Given the description of an element on the screen output the (x, y) to click on. 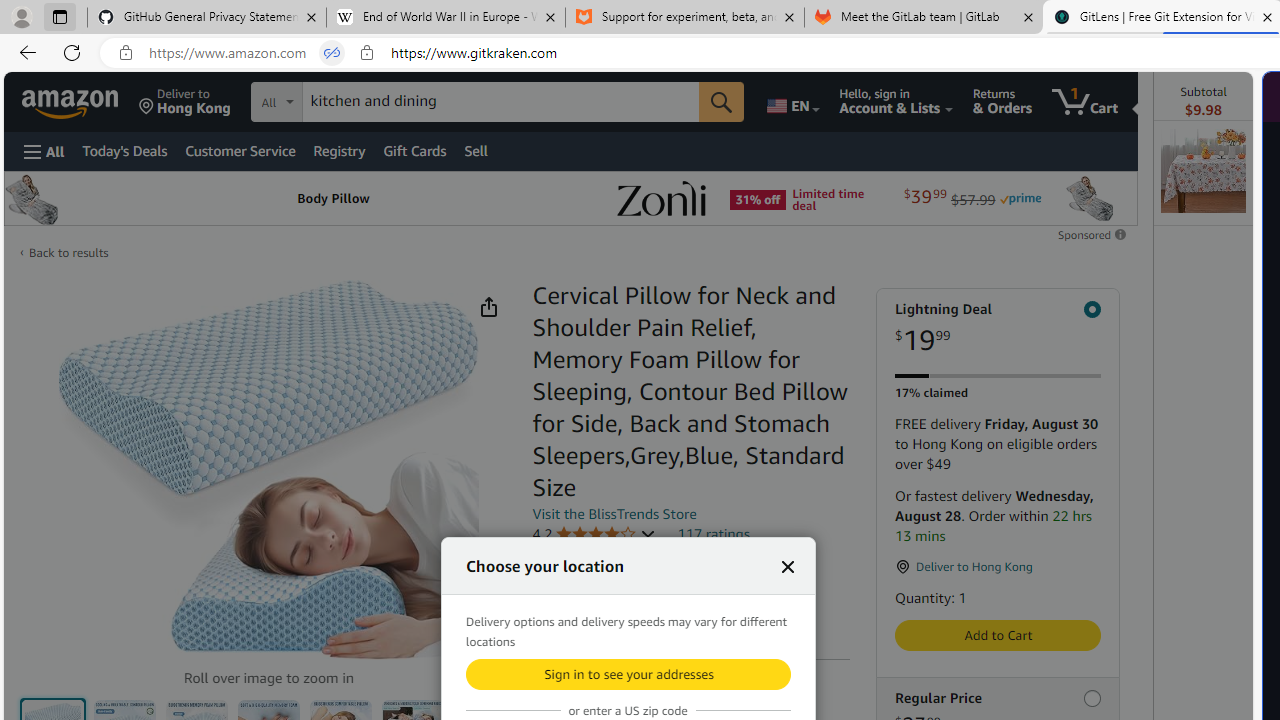
Open Menu (44, 151)
Amazon (72, 101)
Gift Cards (414, 150)
Returns & Orders (1001, 101)
Go (721, 101)
Search Amazon (501, 101)
GitHub General Privacy Statement - GitHub Docs (207, 17)
Search in (350, 102)
Back to results (68, 252)
Sustainability features 1 sustainability feature  (626, 616)
